Given the description of an element on the screen output the (x, y) to click on. 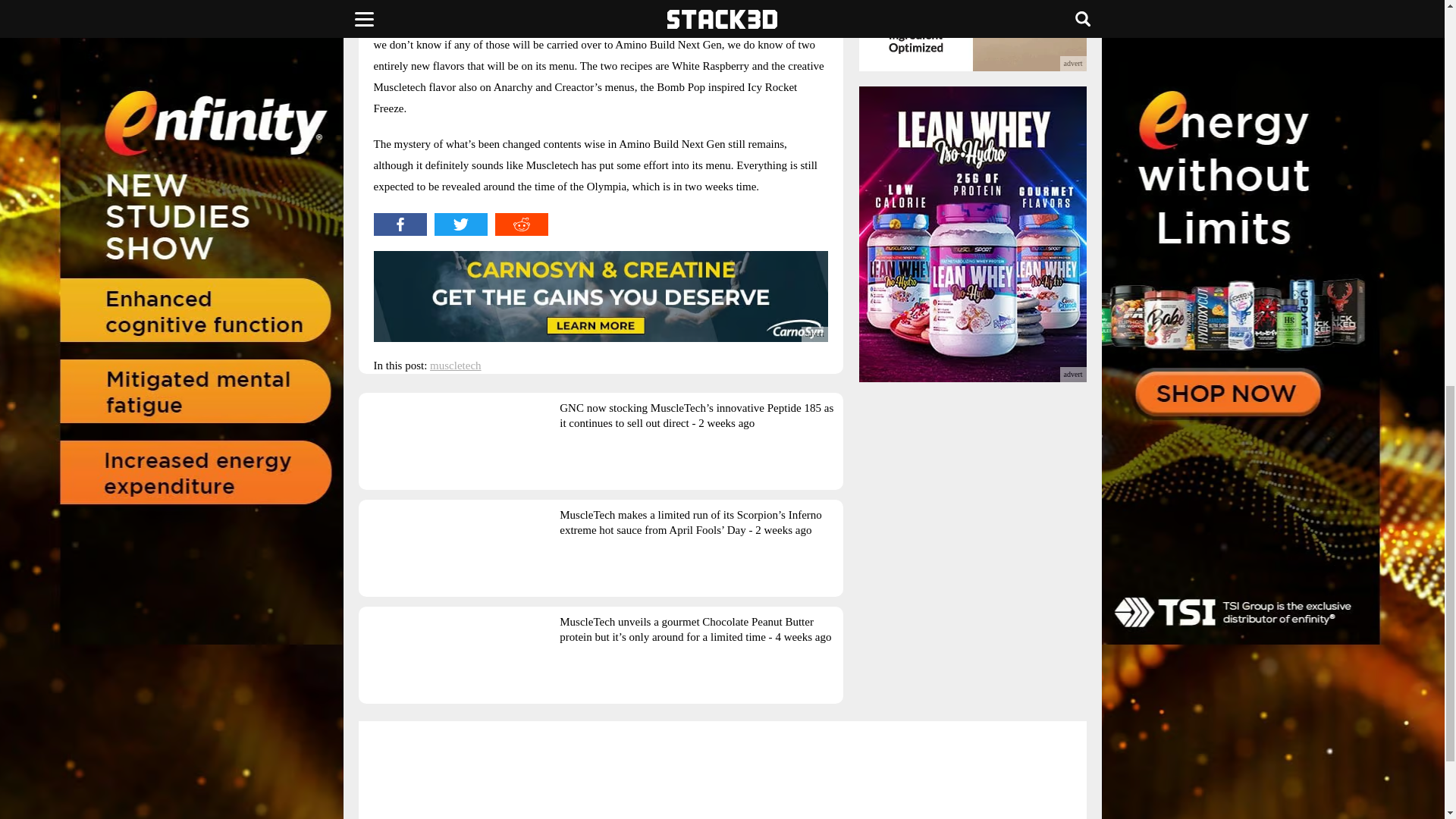
muscletech (454, 365)
